Given the description of an element on the screen output the (x, y) to click on. 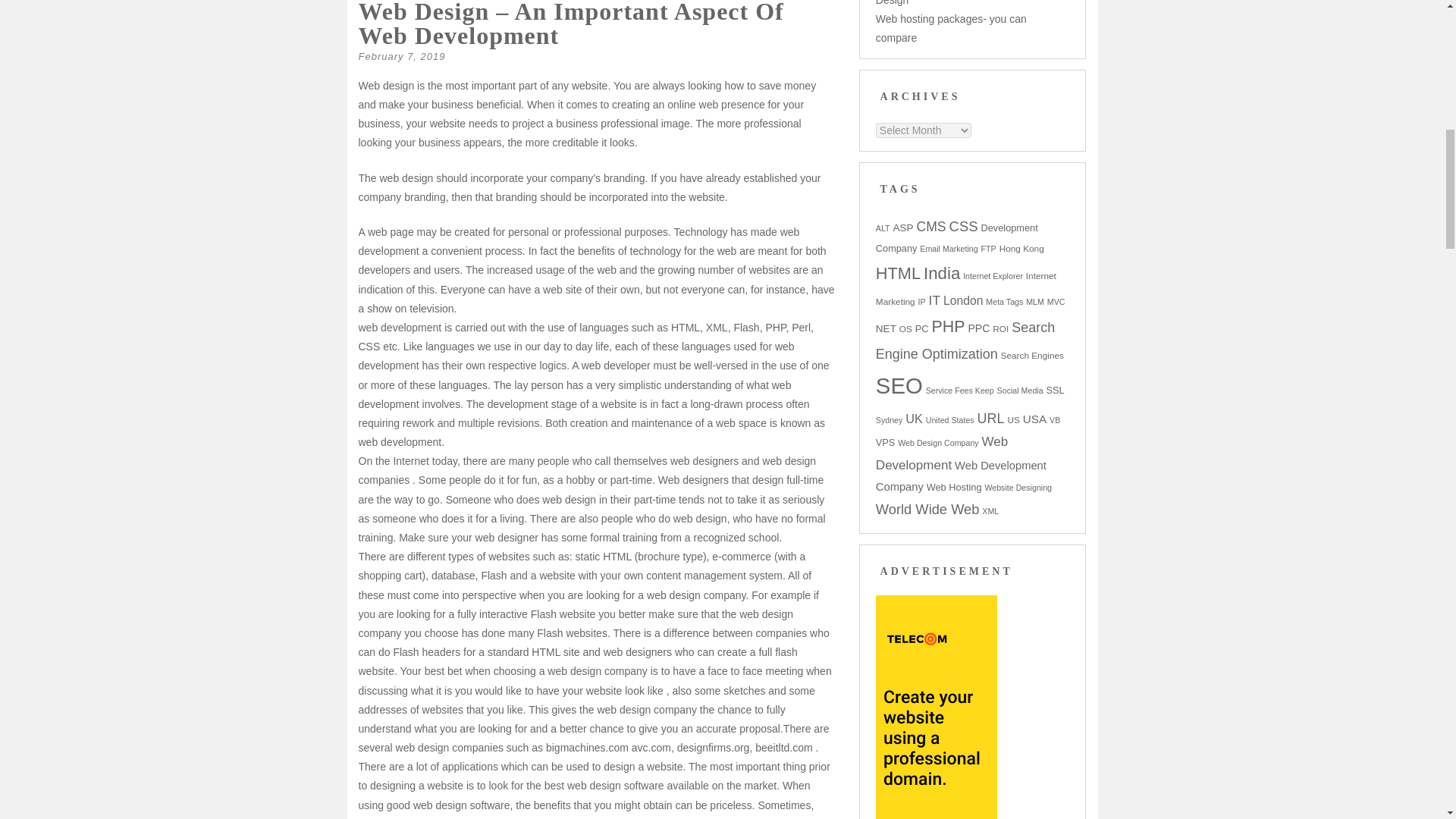
February 7, 2019 (401, 56)
